Given the description of an element on the screen output the (x, y) to click on. 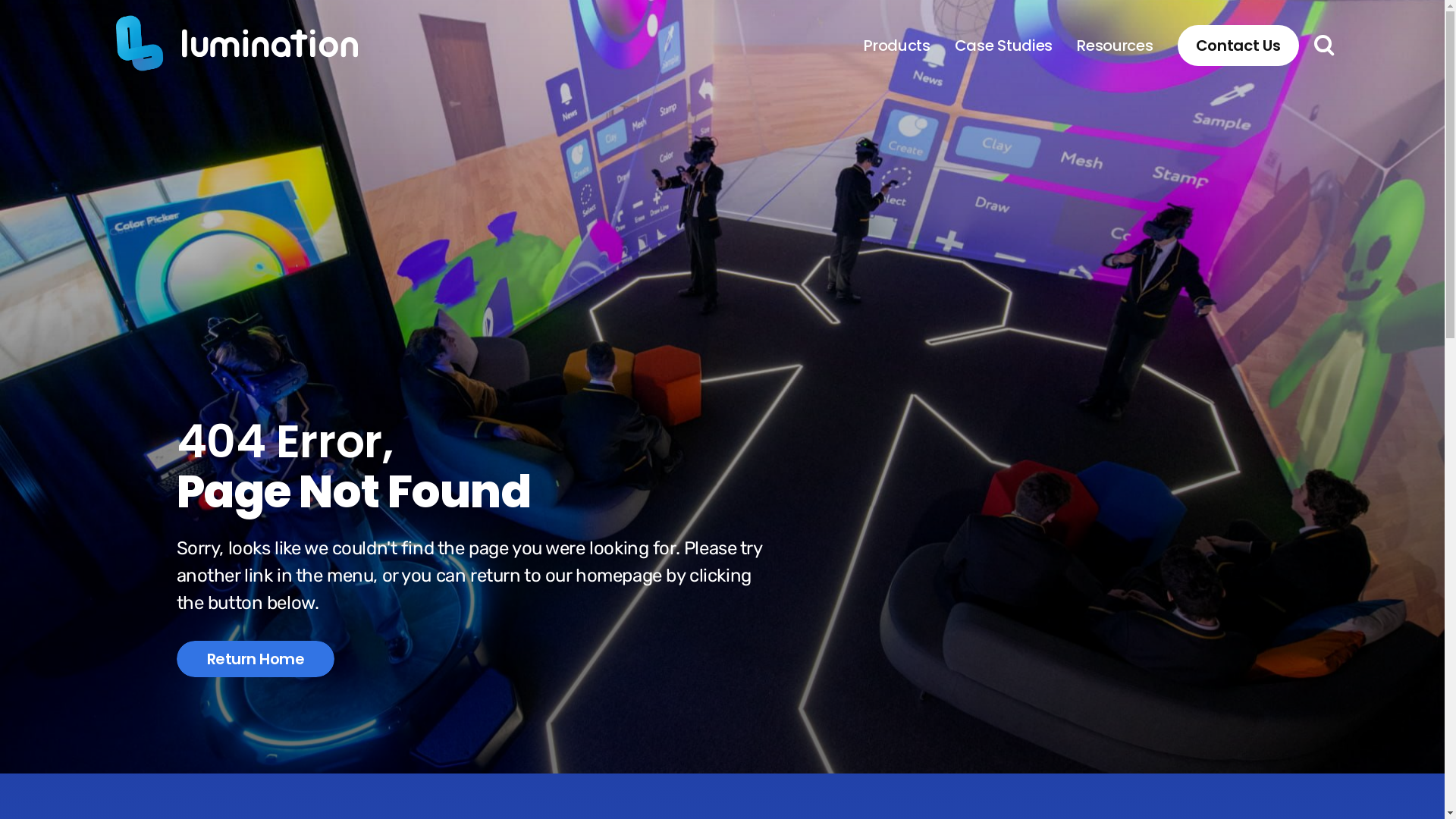
Resources Element type: text (1114, 45)
Skip to content Element type: text (0, 0)
Case Studies Element type: text (1003, 45)
Contact Us Element type: text (1237, 45)
Return Home Element type: text (255, 658)
Products Element type: text (896, 45)
